Given the description of an element on the screen output the (x, y) to click on. 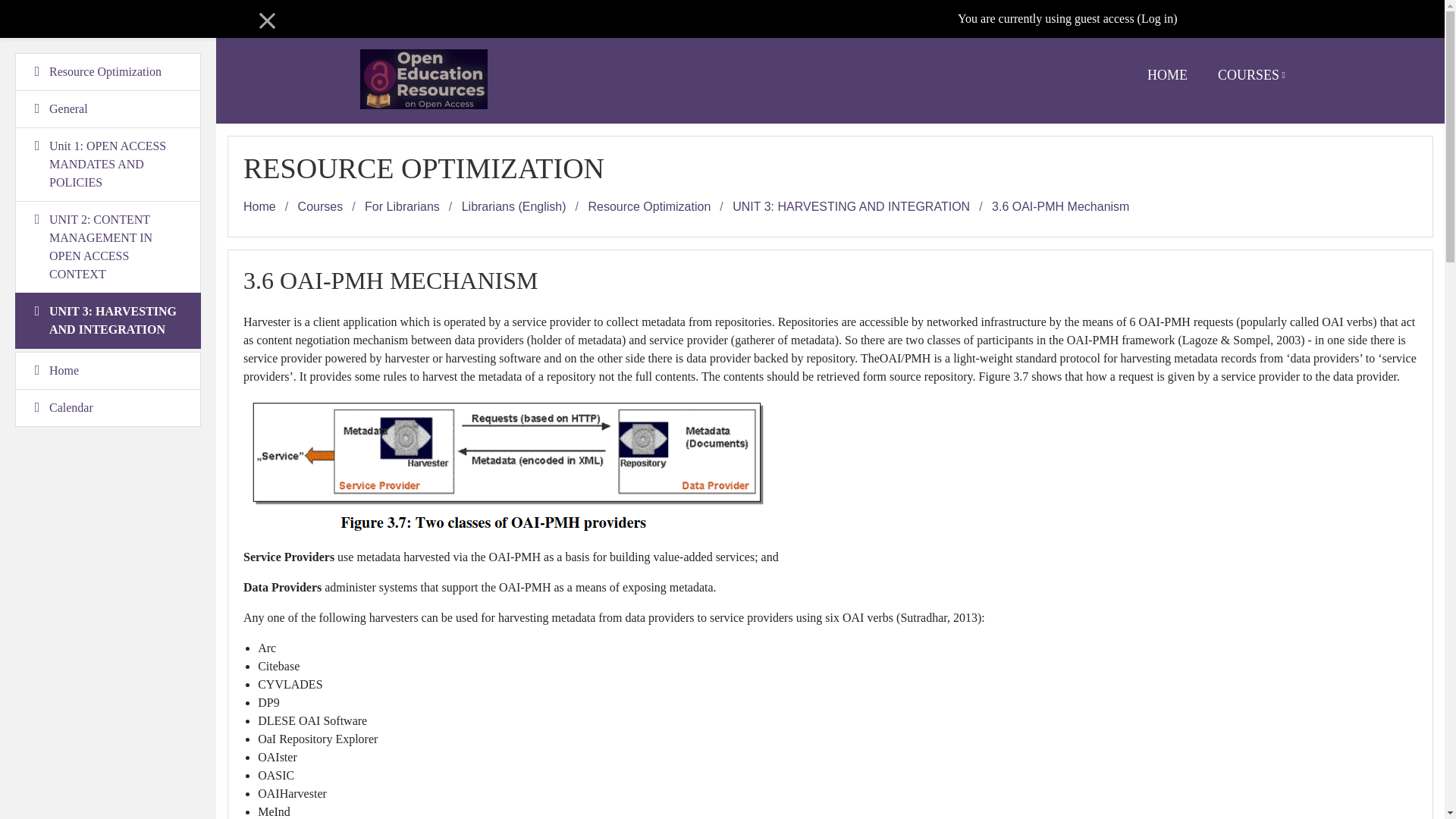
Resource Optimization (649, 205)
Side panel (270, 20)
HOME (1167, 75)
Page (1060, 205)
Log in (1157, 18)
